Given the description of an element on the screen output the (x, y) to click on. 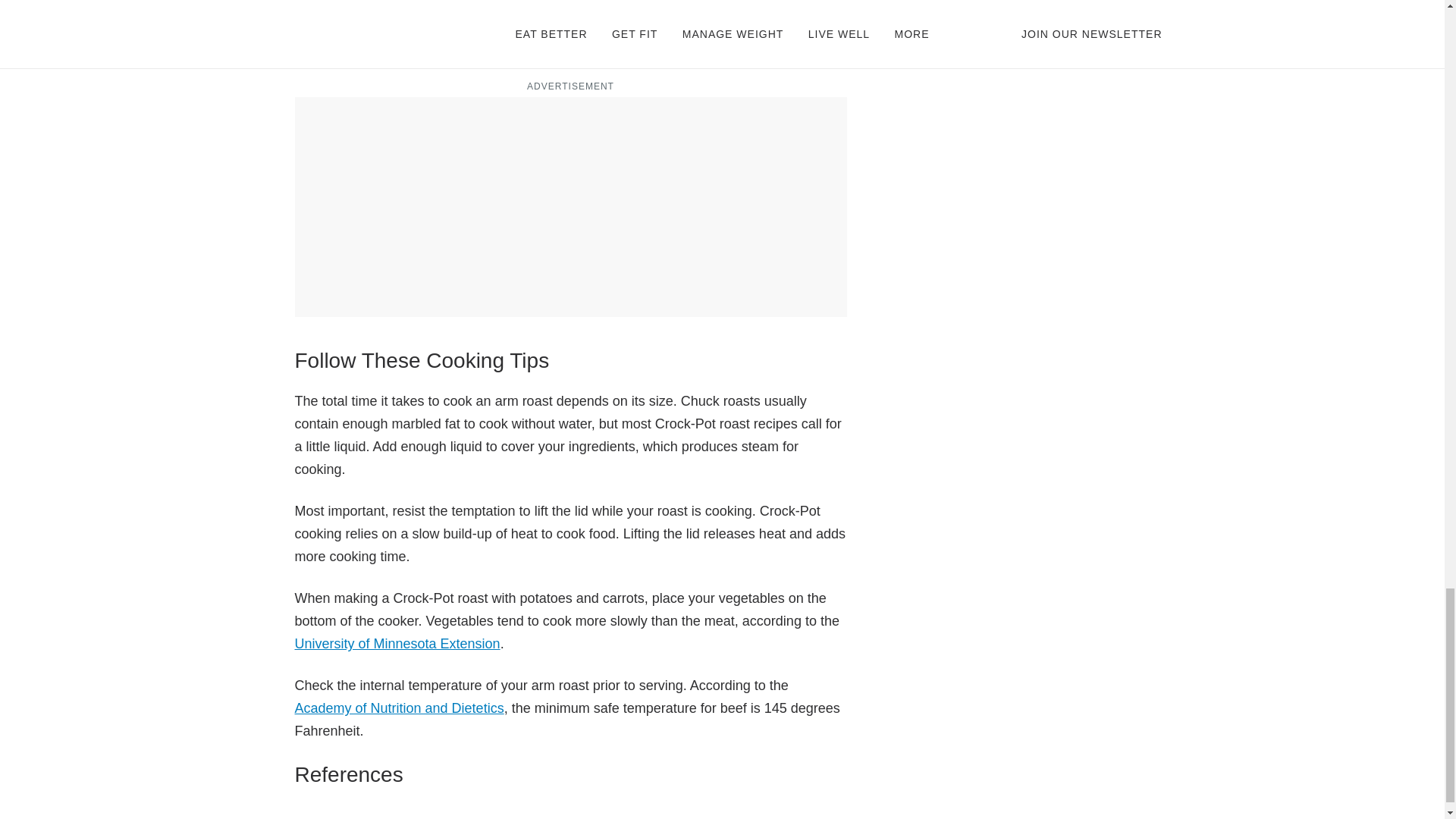
Academy of Nutrition and Dietetics (398, 708)
University of Minnesota Extension (396, 643)
